Given the description of an element on the screen output the (x, y) to click on. 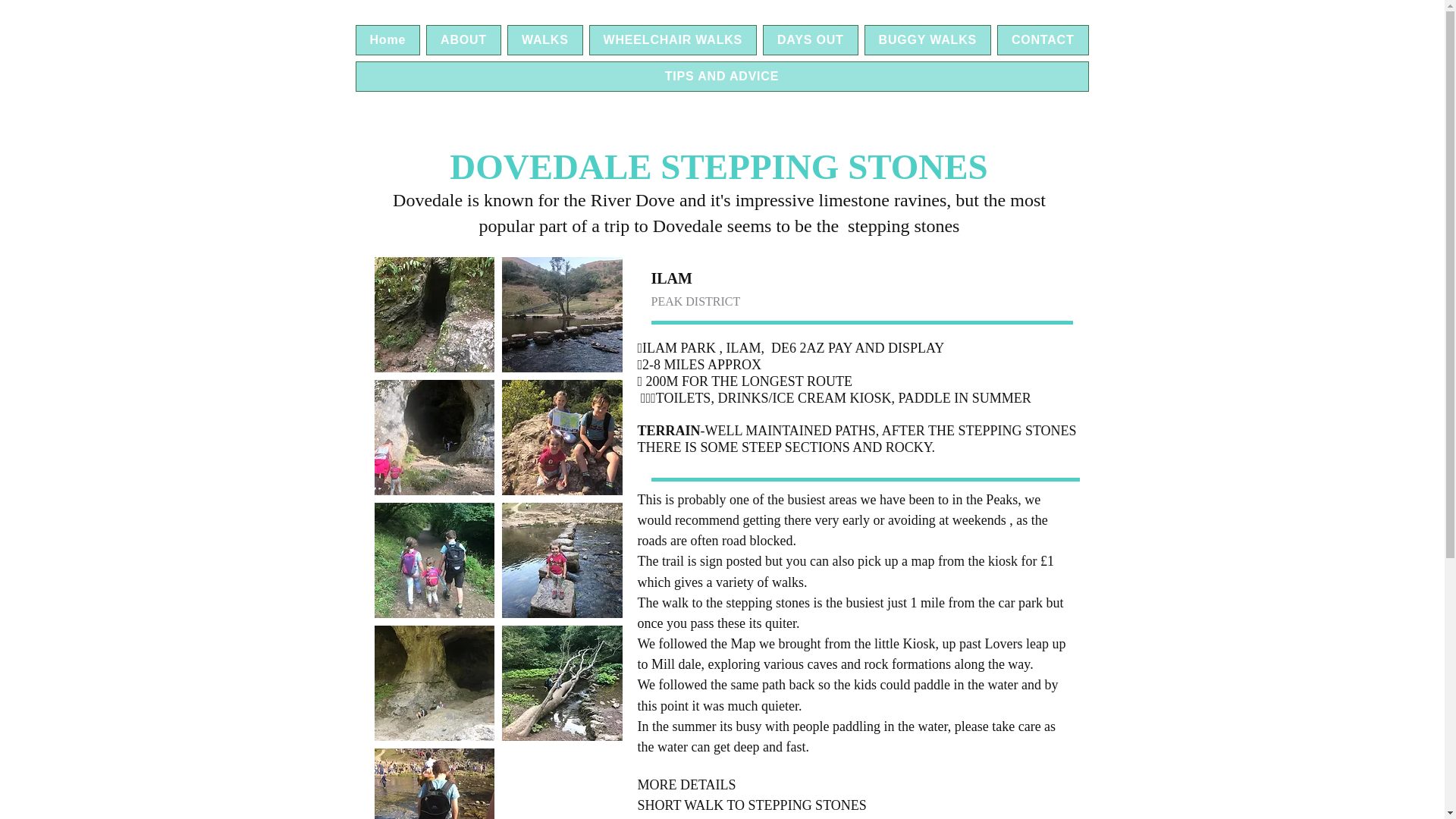
DAYS OUT (810, 40)
BUGGY WALKS (927, 40)
WHEELCHAIR WALKS (673, 40)
ABOUT (463, 40)
WALKS (544, 40)
CONTACT (1043, 40)
Home (387, 40)
TIPS AND ADVICE (721, 76)
